Given the description of an element on the screen output the (x, y) to click on. 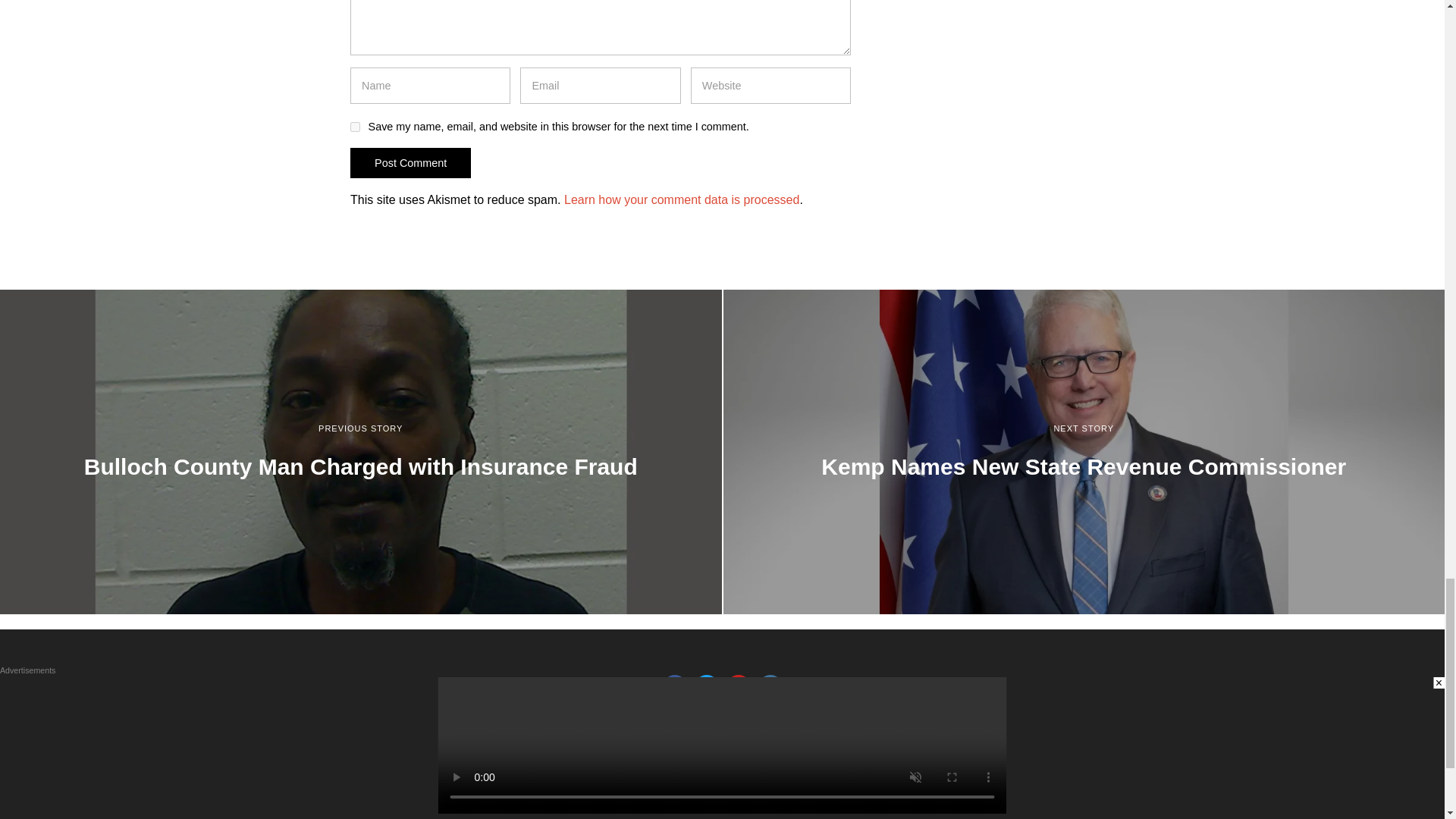
Post Comment (410, 163)
yes (354, 126)
